Given the description of an element on the screen output the (x, y) to click on. 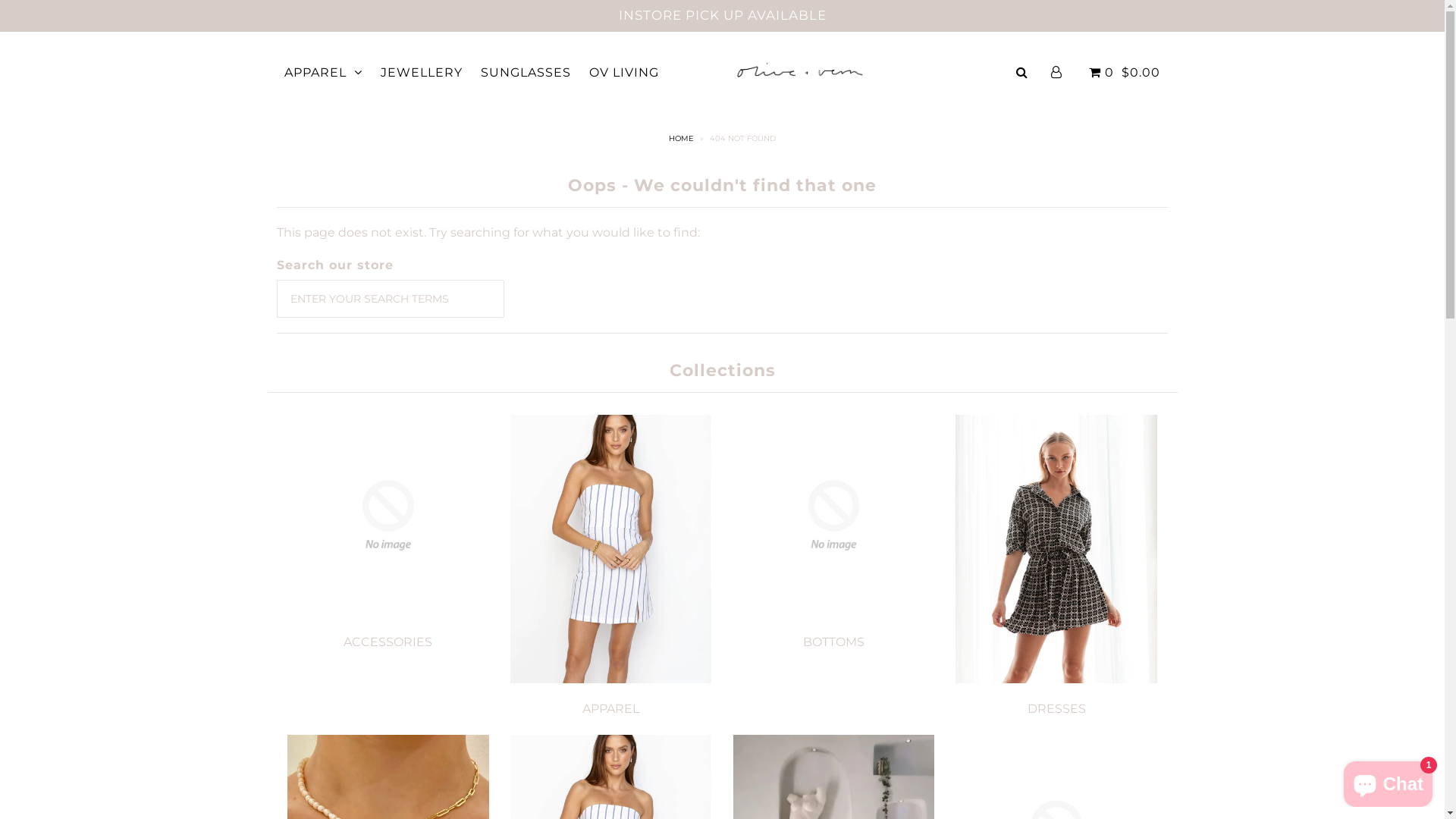
BOTTOMS Element type: text (833, 641)
APPAREL Element type: text (610, 708)
JEWELLERY Element type: text (421, 72)
APPAREL Element type: text (323, 72)
  0  $0.00 Element type: text (1122, 72)
Shopify online store chat Element type: hover (1388, 780)
OV LIVING Element type: text (623, 72)
DRESSES Element type: text (1056, 708)
ACCESSORIES Element type: text (387, 641)
HOME Element type: text (682, 138)
SUNGLASSES Element type: text (525, 72)
